Given the description of an element on the screen output the (x, y) to click on. 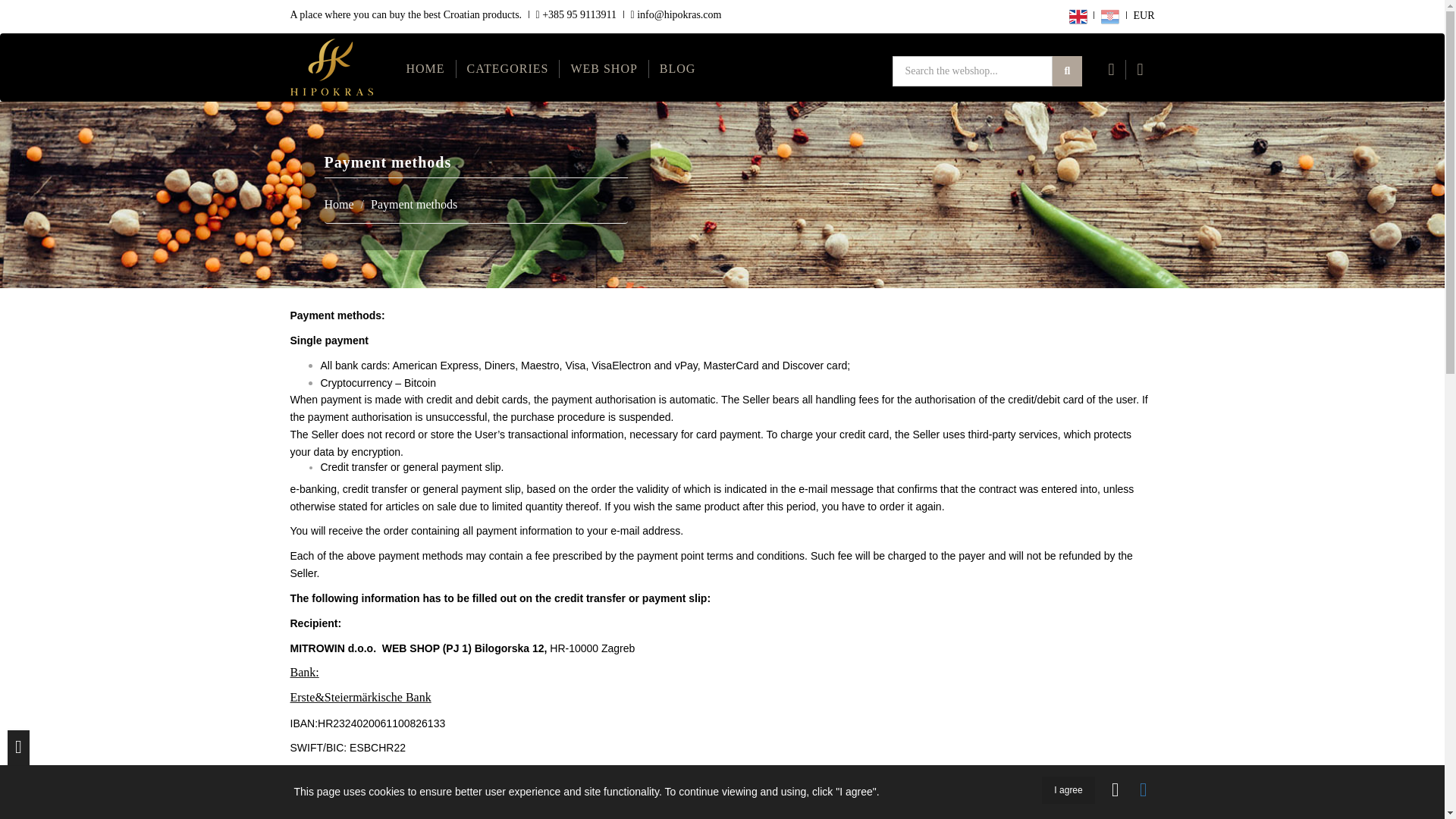
BLOG (677, 68)
A place where you can buy the best Croatian products. (405, 15)
HOME (426, 68)
CATEGORIES (508, 68)
Home (338, 204)
WEB SHOP (603, 68)
